Given the description of an element on the screen output the (x, y) to click on. 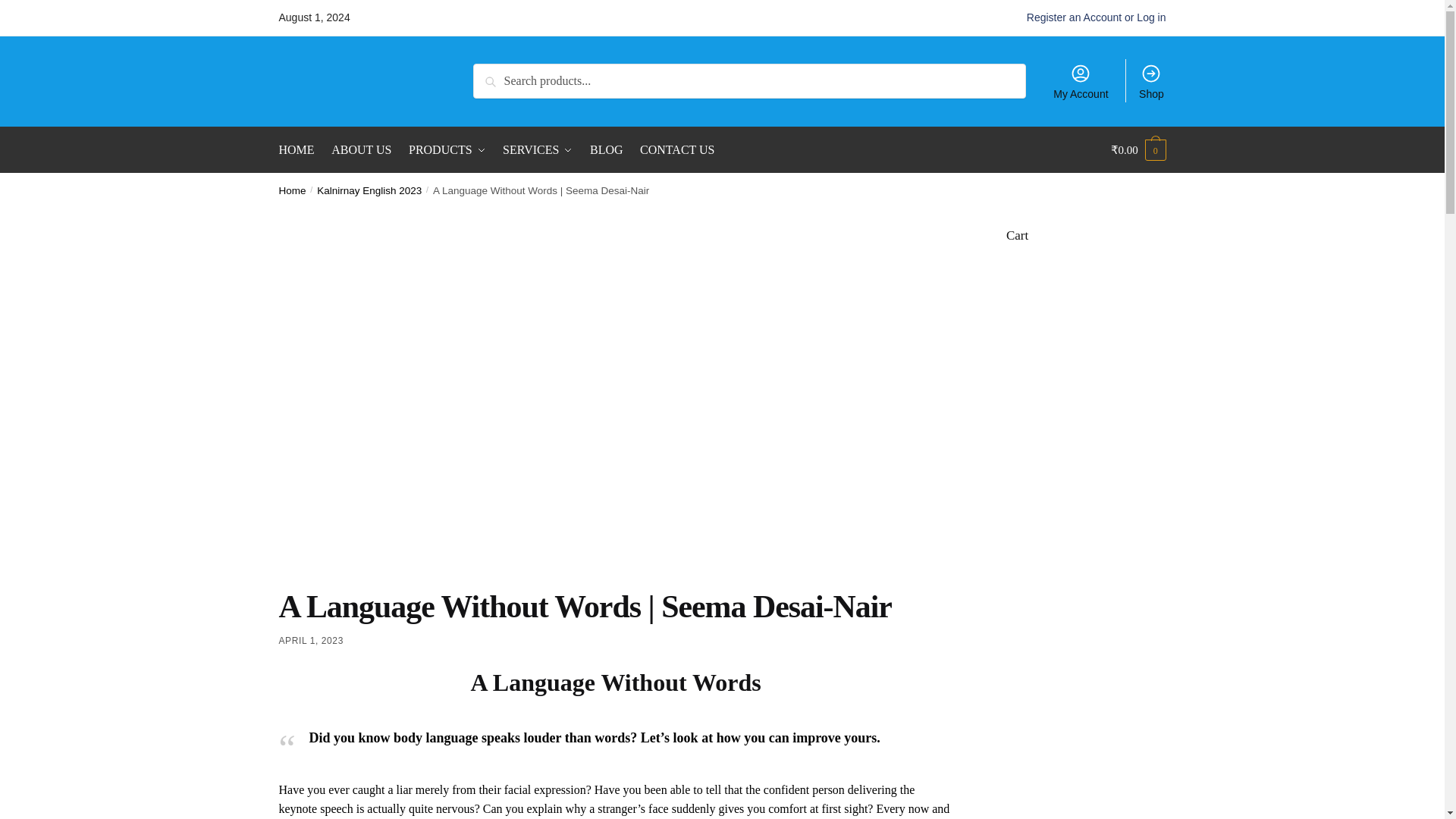
PRODUCTS (446, 149)
View your shopping cart (1137, 149)
ABOUT US (360, 149)
HOME (300, 149)
Register an Account or Log in (1096, 17)
My Account (1080, 80)
Shop (1151, 80)
Search (494, 74)
